Given the description of an element on the screen output the (x, y) to click on. 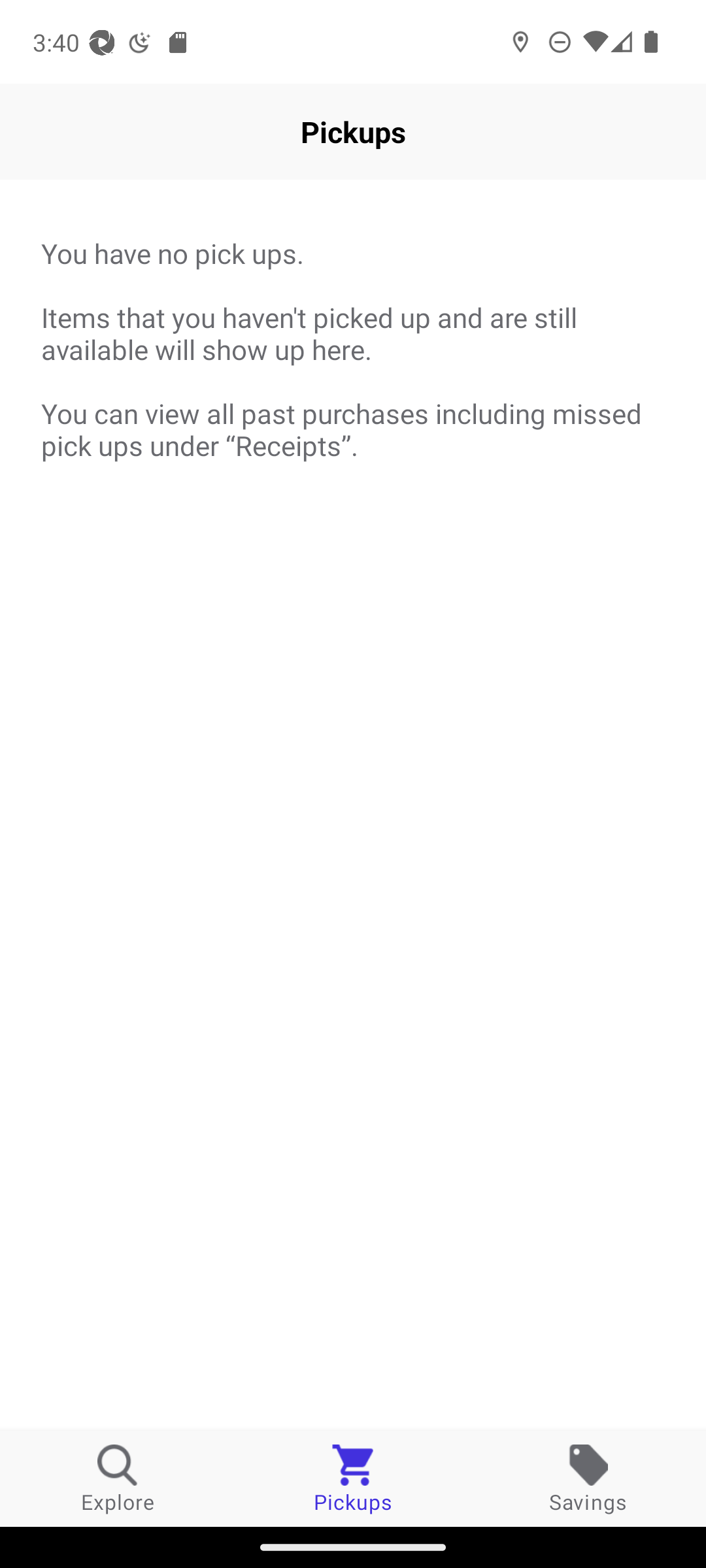
Explore (117, 1478)
Savings (588, 1478)
